Given the description of an element on the screen output the (x, y) to click on. 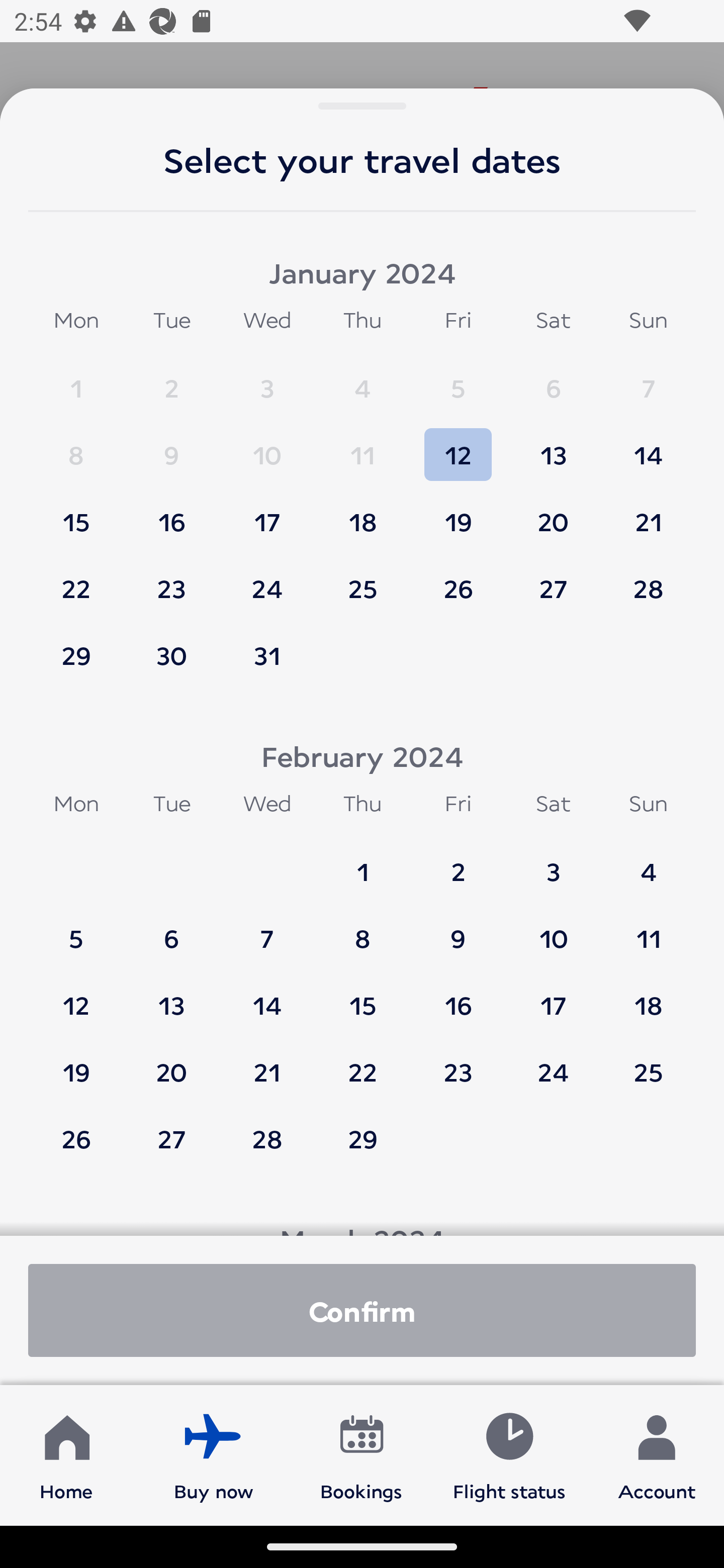
1 (75, 379)
2 (171, 379)
3 (266, 379)
4 (362, 379)
5 (458, 379)
6 (553, 379)
7 (647, 379)
8 (75, 445)
9 (171, 445)
10 (266, 445)
11 (362, 445)
12 (458, 445)
13 (553, 445)
14 (647, 445)
15 (75, 512)
16 (171, 512)
17 (266, 512)
18 (362, 512)
19 (458, 512)
20 (553, 512)
21 (647, 512)
22 (75, 579)
23 (171, 579)
24 (266, 579)
25 (362, 579)
26 (458, 579)
27 (553, 579)
28 (647, 579)
29 (75, 655)
30 (171, 655)
31 (266, 655)
1 (362, 862)
2 (458, 862)
3 (553, 862)
4 (647, 862)
5 (75, 928)
6 (171, 928)
7 (266, 928)
8 (362, 928)
9 (458, 928)
10 (553, 928)
11 (647, 928)
12 (75, 996)
13 (171, 996)
14 (266, 996)
15 (362, 996)
16 (458, 996)
17 (553, 996)
18 (647, 996)
19 (75, 1063)
20 (171, 1063)
21 (266, 1063)
22 (362, 1063)
23 (458, 1063)
24 (553, 1063)
25 (647, 1063)
26 (75, 1138)
27 (171, 1138)
28 (266, 1138)
29 (362, 1138)
Confirm (361, 1309)
Home (66, 1454)
Bookings (361, 1454)
Flight status (509, 1454)
Account (657, 1454)
